Given the description of an element on the screen output the (x, y) to click on. 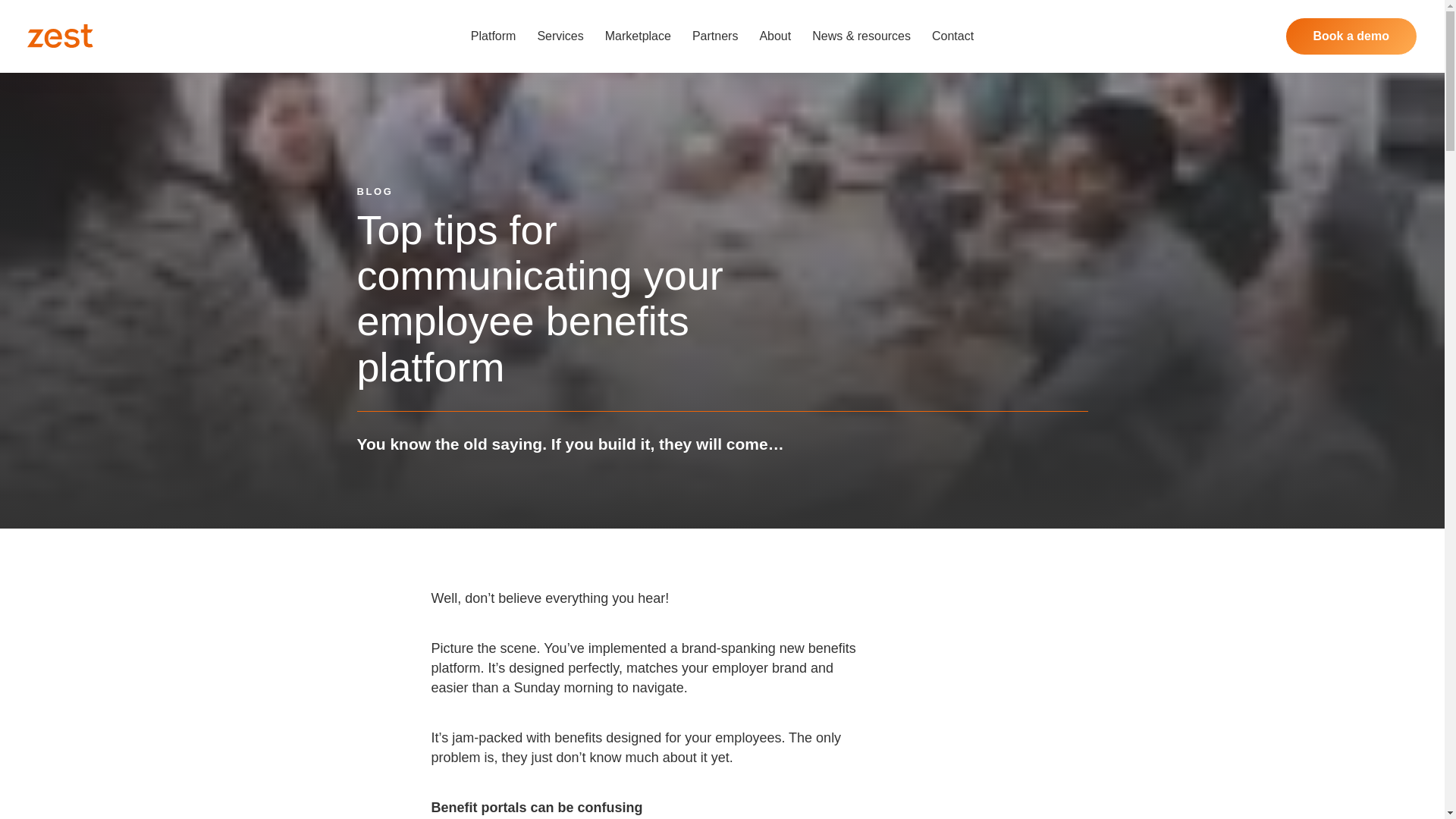
About (774, 36)
Services (560, 36)
Contact (952, 36)
Partners (715, 36)
Platform (493, 36)
Book a demo (1350, 36)
Marketplace (638, 36)
